Given the description of an element on the screen output the (x, y) to click on. 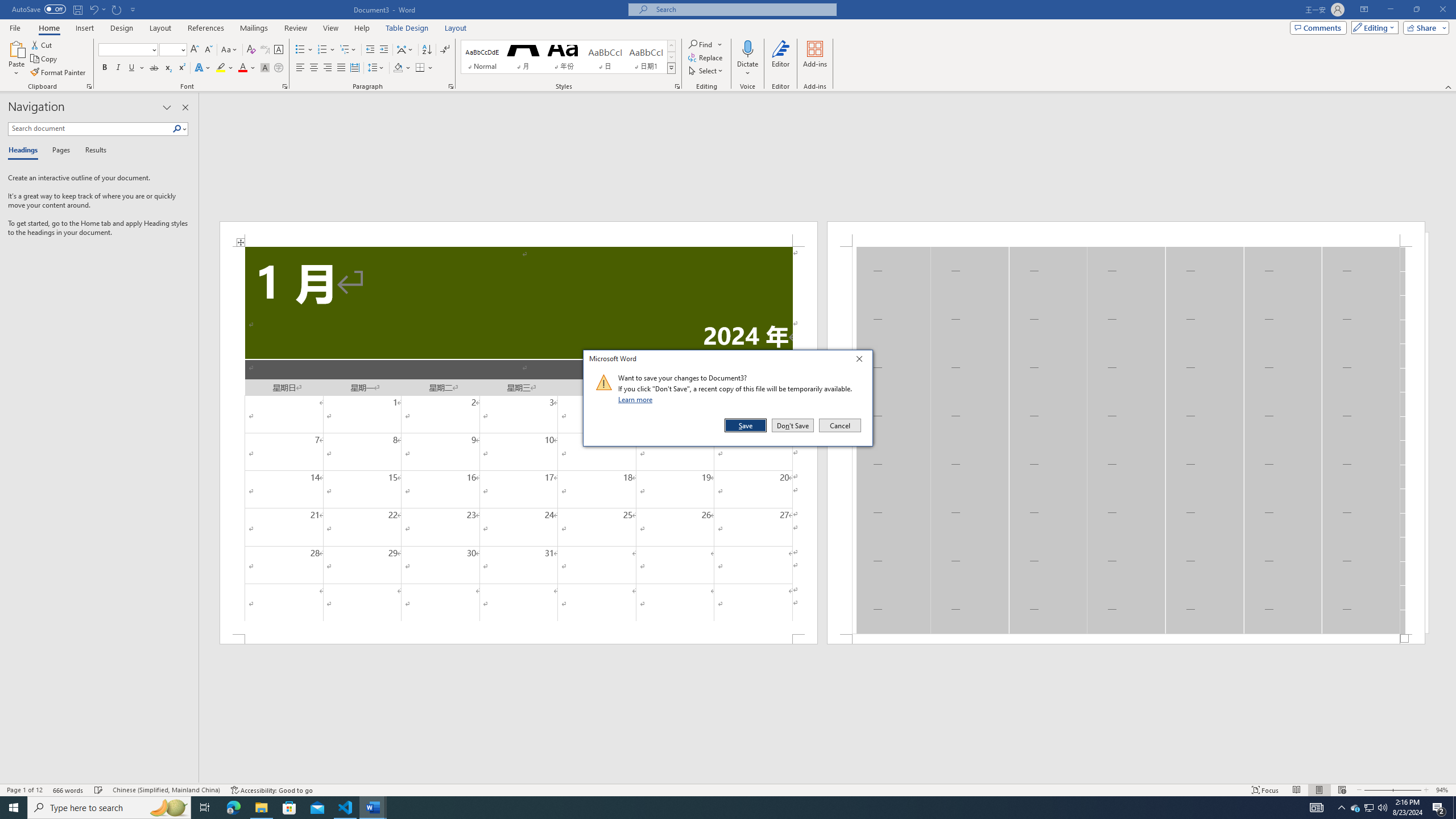
Microsoft Store (289, 807)
